Given the description of an element on the screen output the (x, y) to click on. 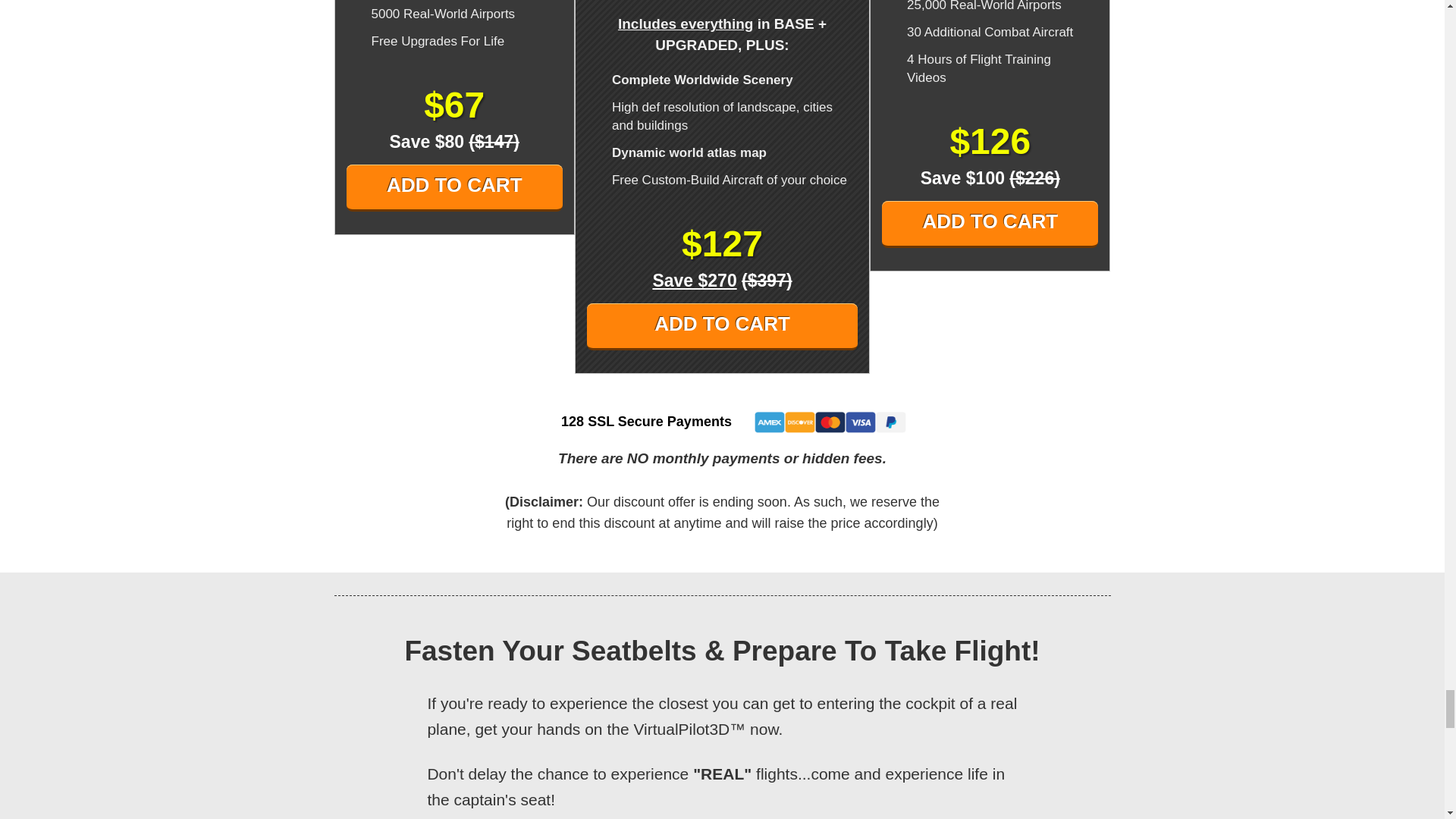
ADD TO CART (454, 187)
ADD TO CART (721, 326)
ADD TO CART (989, 224)
